Given the description of an element on the screen output the (x, y) to click on. 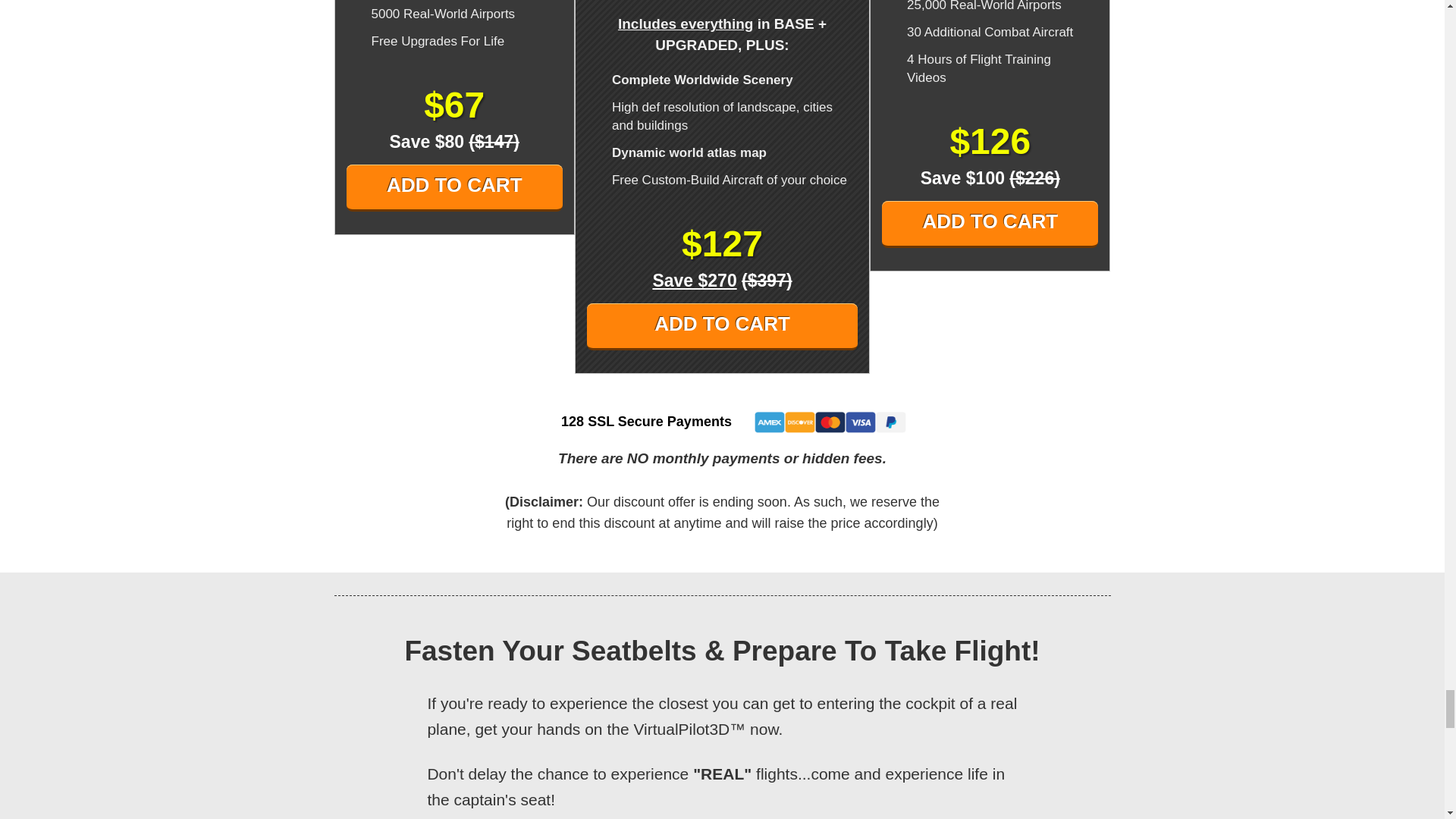
ADD TO CART (454, 187)
ADD TO CART (721, 326)
ADD TO CART (989, 224)
